Given the description of an element on the screen output the (x, y) to click on. 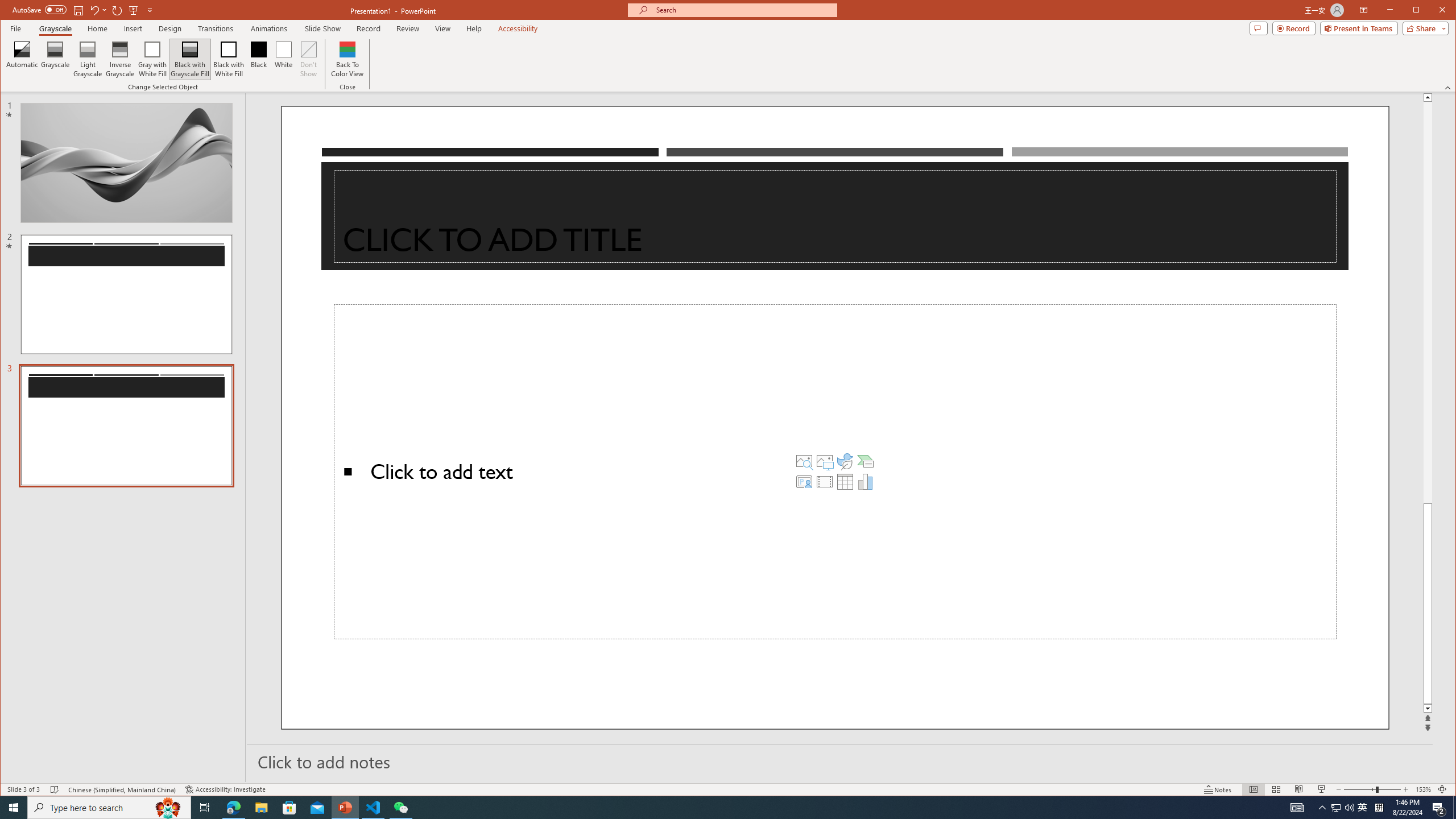
WeChat - 1 running window (400, 807)
Insert Chart (865, 481)
Accessibility (518, 28)
Spell Check No Errors (55, 789)
PowerPoint - 1 running window (345, 807)
White (283, 59)
